Given the description of an element on the screen output the (x, y) to click on. 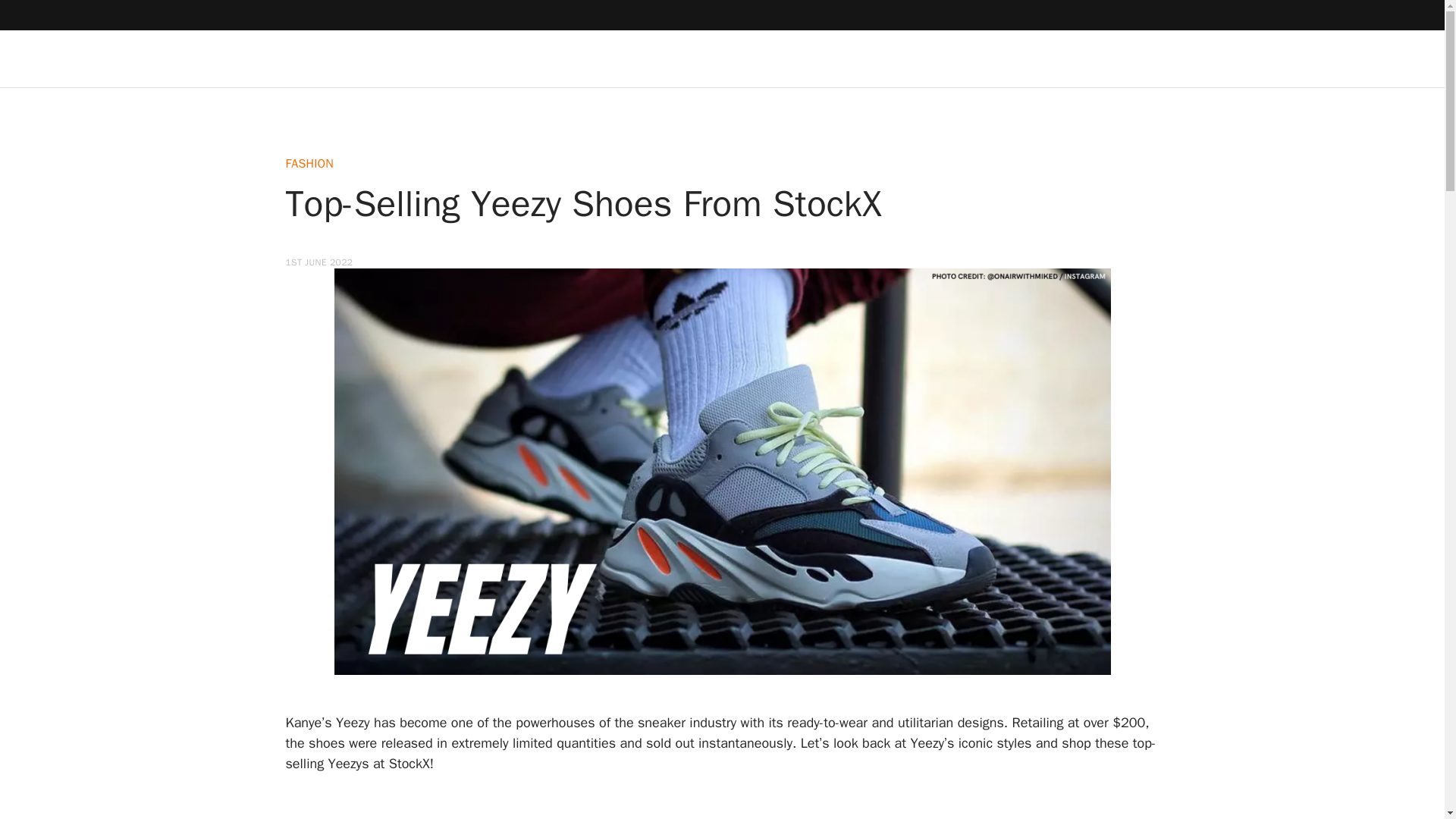
FASHION (309, 163)
